Given the description of an element on the screen output the (x, y) to click on. 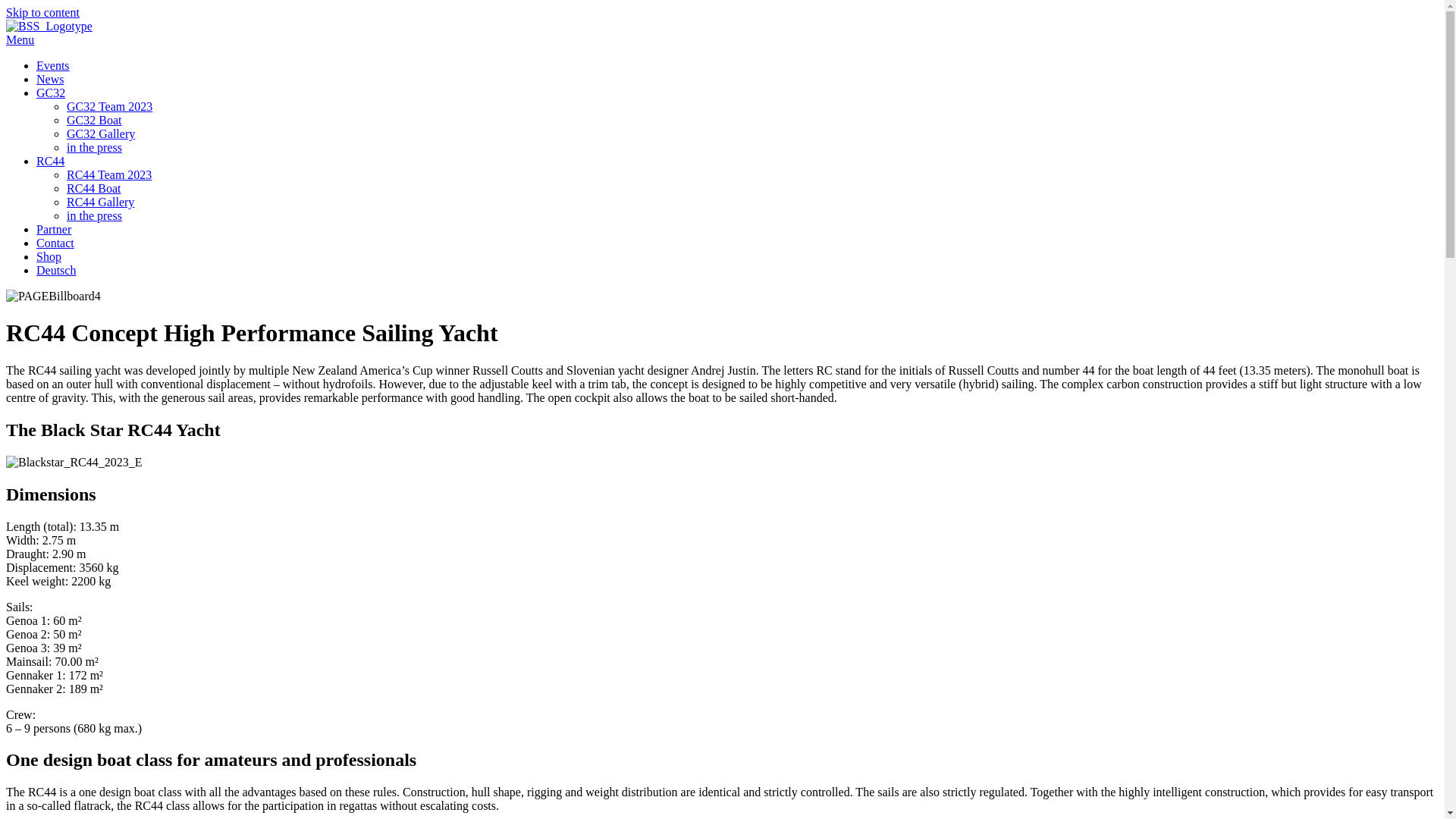
in the press Element type: text (94, 147)
Contact Element type: text (55, 242)
RC44 Gallery Element type: text (100, 201)
News Element type: text (49, 78)
RC44 Team 2023 Element type: text (108, 174)
RC44 Element type: text (50, 160)
GC32 Team 2023 Element type: text (109, 106)
RC44 Boat Element type: text (93, 188)
Deutsch Element type: text (55, 269)
GC32 Gallery Element type: text (100, 133)
GC32 Element type: text (50, 92)
Partner Element type: text (53, 228)
PAGEBillboard4 Element type: hover (53, 296)
Blackstar_RC44_2023_E Element type: hover (74, 462)
Events Element type: text (52, 65)
in the press Element type: text (94, 215)
BSS_Logotype Element type: hover (49, 26)
GC32 Boat Element type: text (93, 119)
Menu Element type: text (20, 39)
Shop Element type: text (48, 256)
Skip to content Element type: text (42, 12)
